Given the description of an element on the screen output the (x, y) to click on. 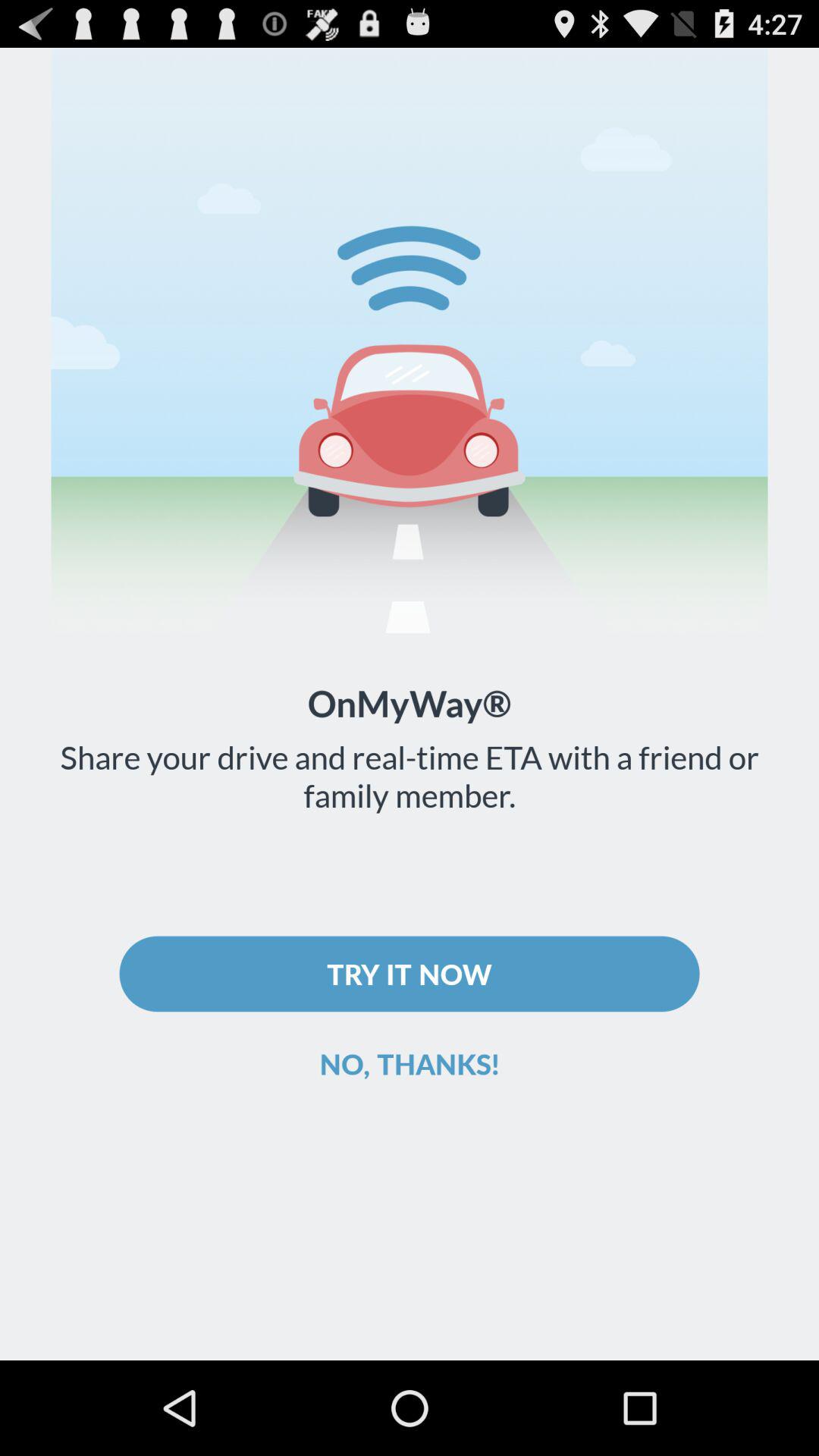
turn on try it now (409, 973)
